Given the description of an element on the screen output the (x, y) to click on. 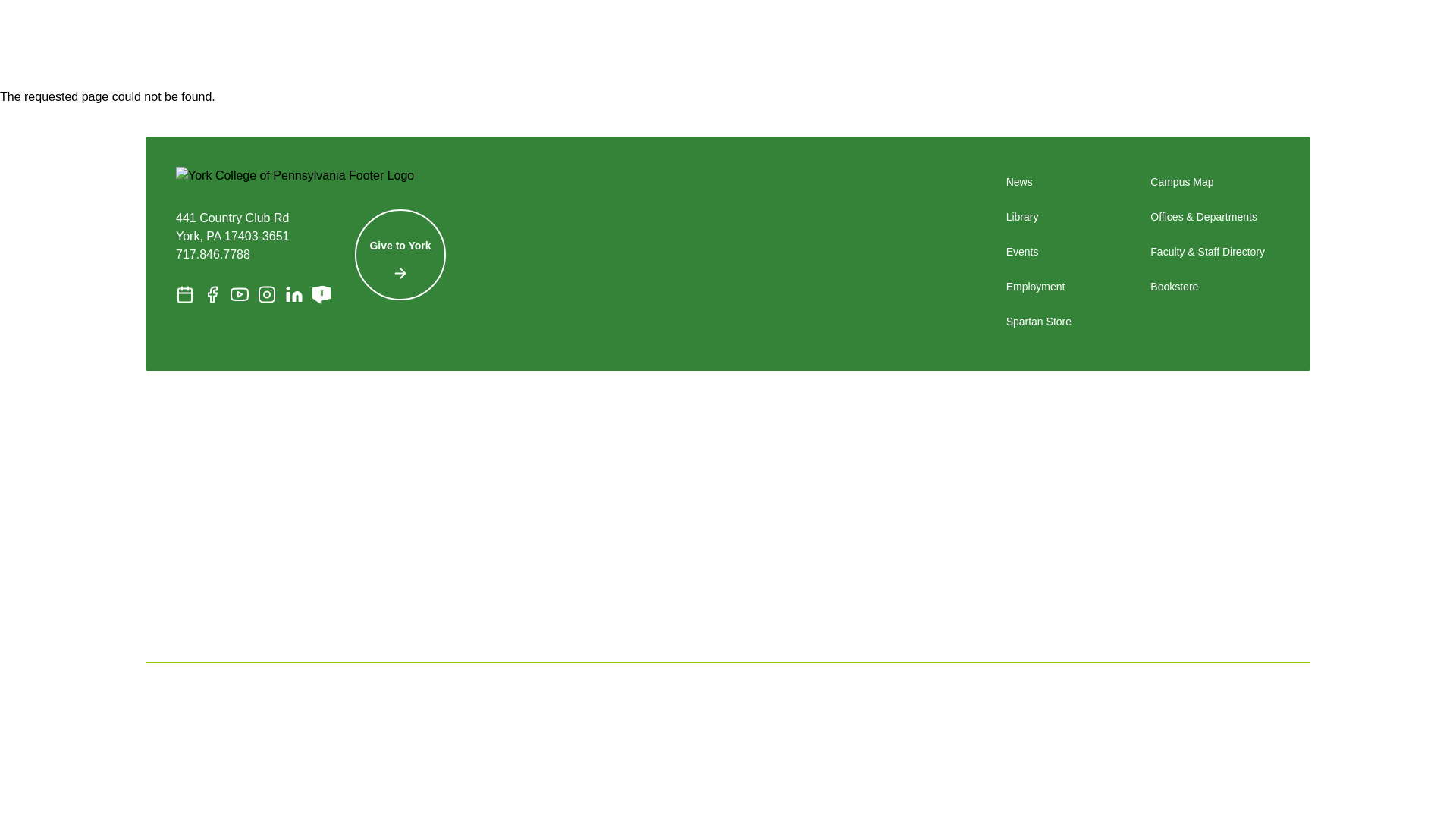
LinkedIn (293, 294)
YouTube (239, 294)
View Our Events (184, 294)
Instagram (266, 294)
Facebook (212, 294)
Photoshelter (321, 294)
Skip to main content (69, 18)
